Given the description of an element on the screen output the (x, y) to click on. 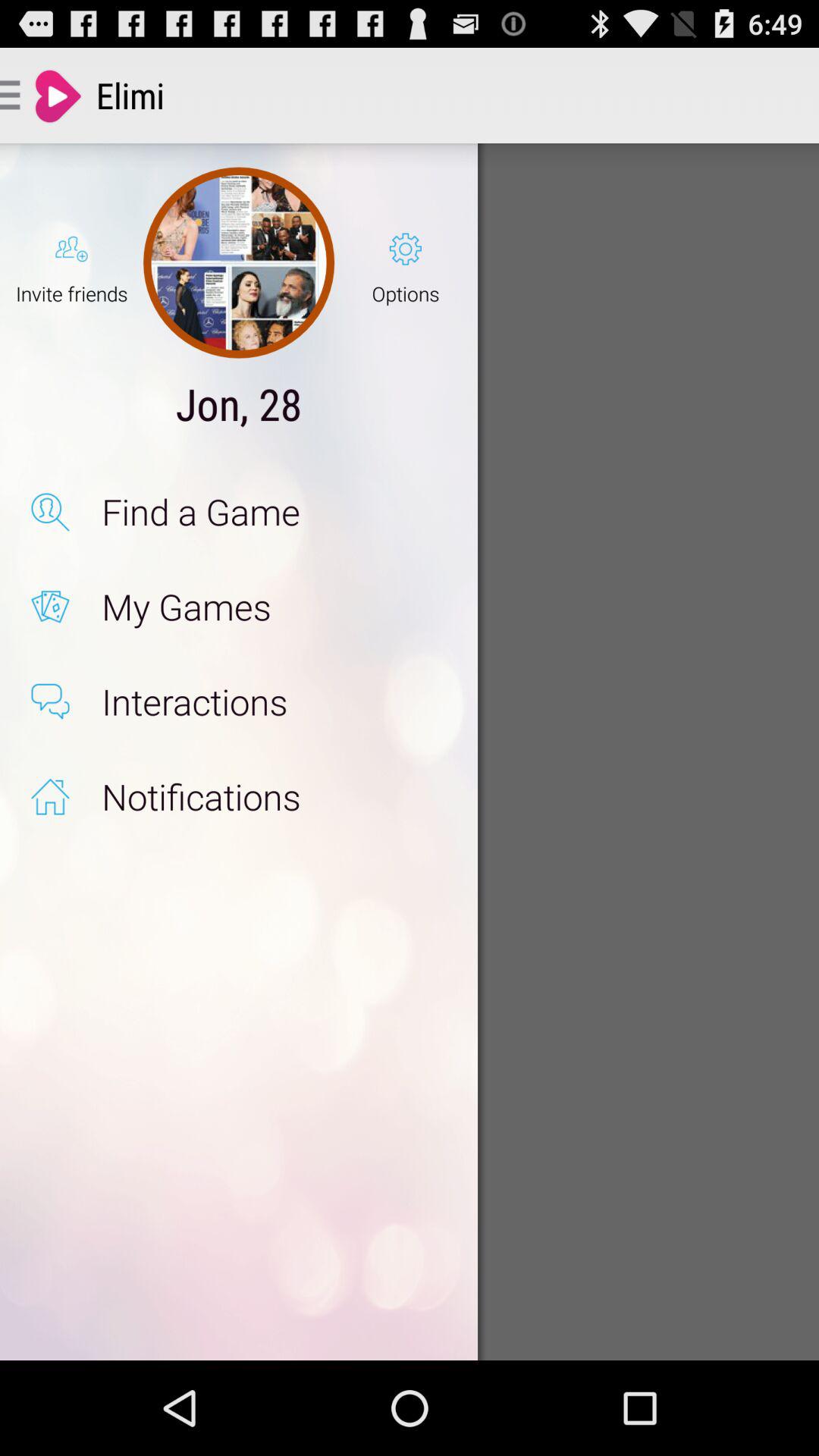
turn on notifications app (273, 796)
